Given the description of an element on the screen output the (x, y) to click on. 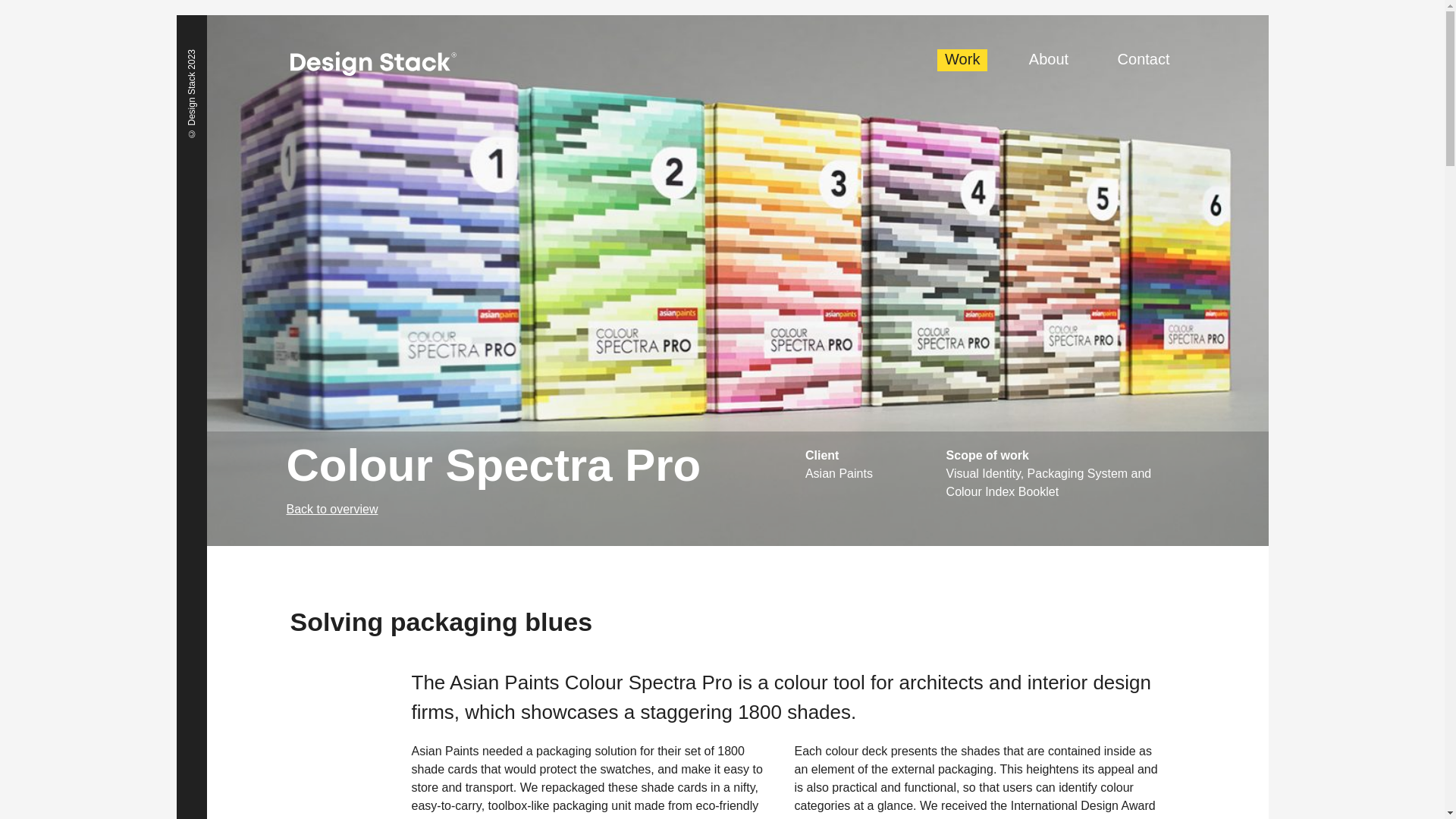
Work (962, 60)
Instagram (1054, 763)
Back to overview (545, 509)
Design Stack (372, 63)
Twitter (1026, 763)
Pinterest (999, 763)
Facebook (971, 763)
Sign up (1061, 741)
Sign up (1061, 741)
About (1048, 60)
